Given the description of an element on the screen output the (x, y) to click on. 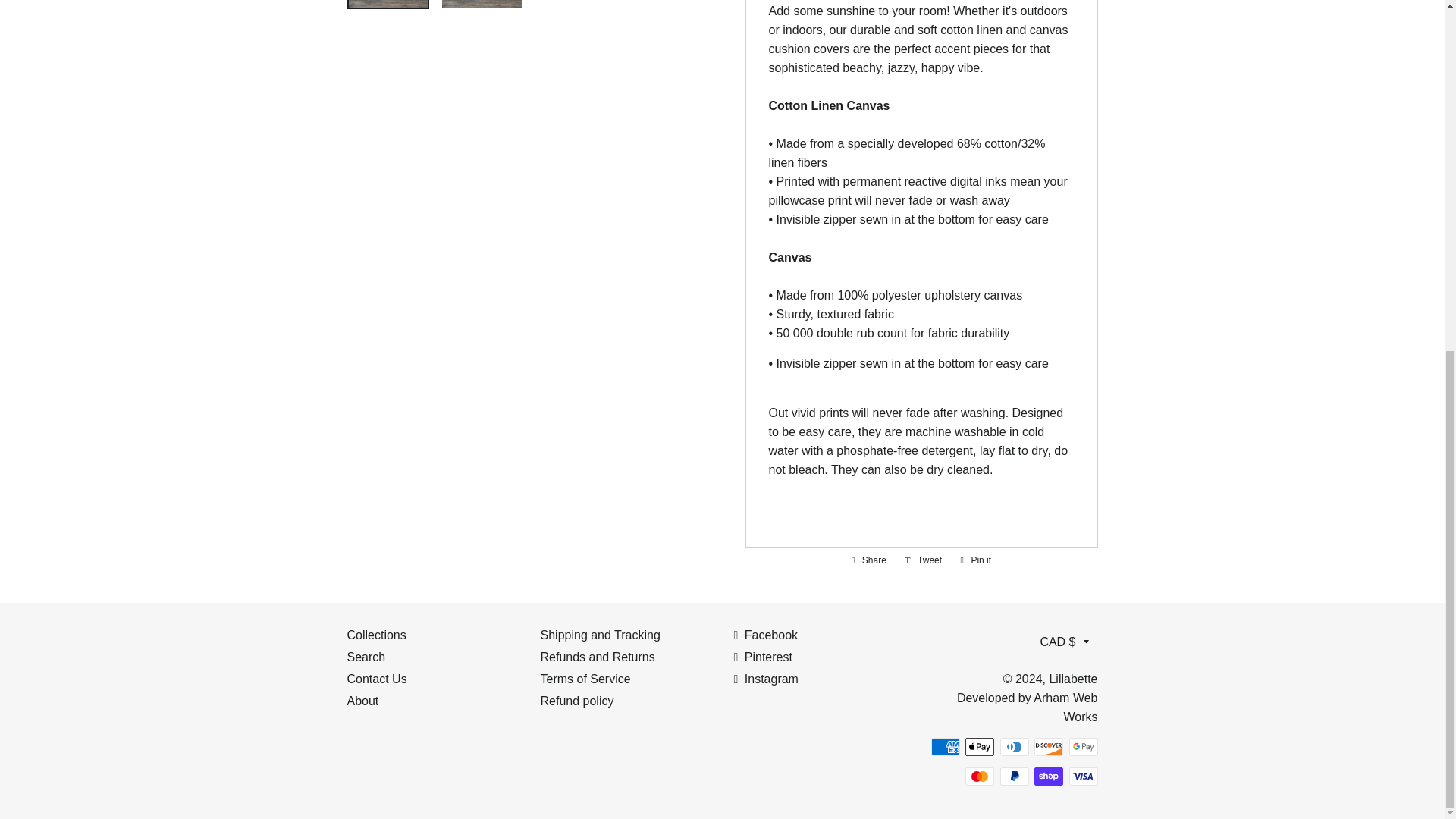
Tweet on Twitter (922, 560)
Lillabette on Facebook (765, 634)
Lillabette on Pinterest (762, 656)
Apple Pay (979, 746)
American Express (945, 746)
Google Pay (1082, 746)
Diners Club (1012, 746)
Discover (1047, 746)
Visa (1082, 776)
Shop Pay (1047, 776)
